Given the description of an element on the screen output the (x, y) to click on. 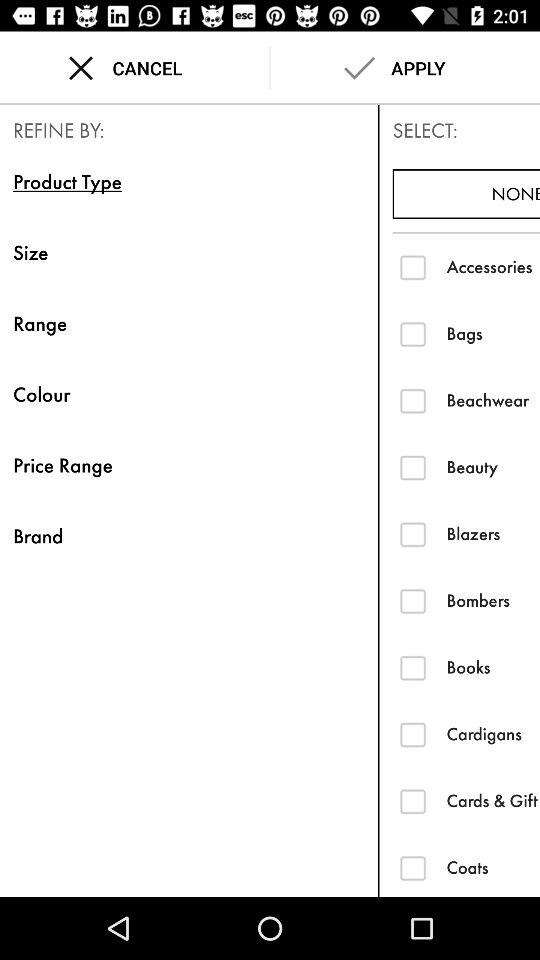
include in search (412, 600)
